Given the description of an element on the screen output the (x, y) to click on. 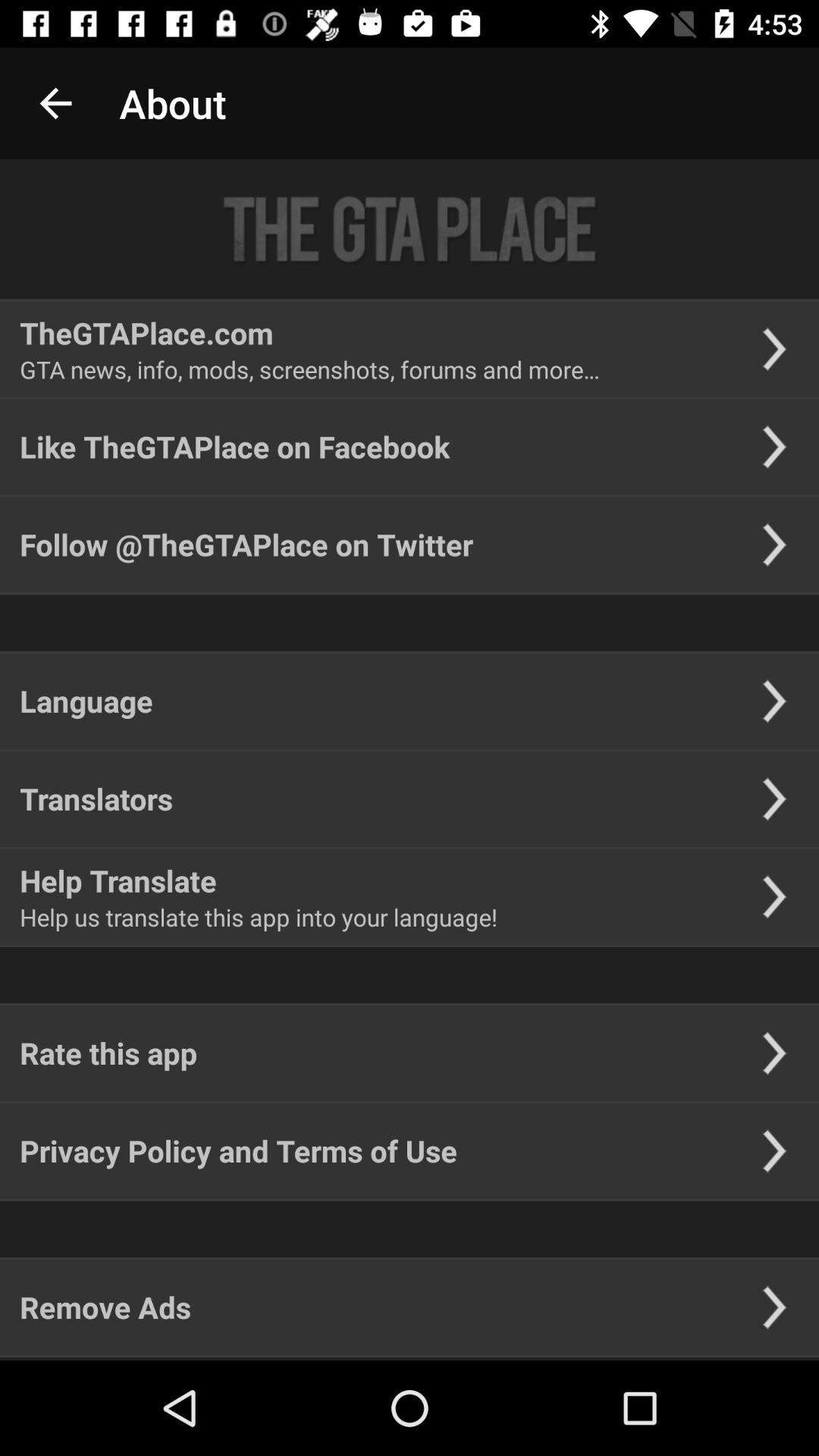
select the privacy policy and icon (238, 1150)
